Given the description of an element on the screen output the (x, y) to click on. 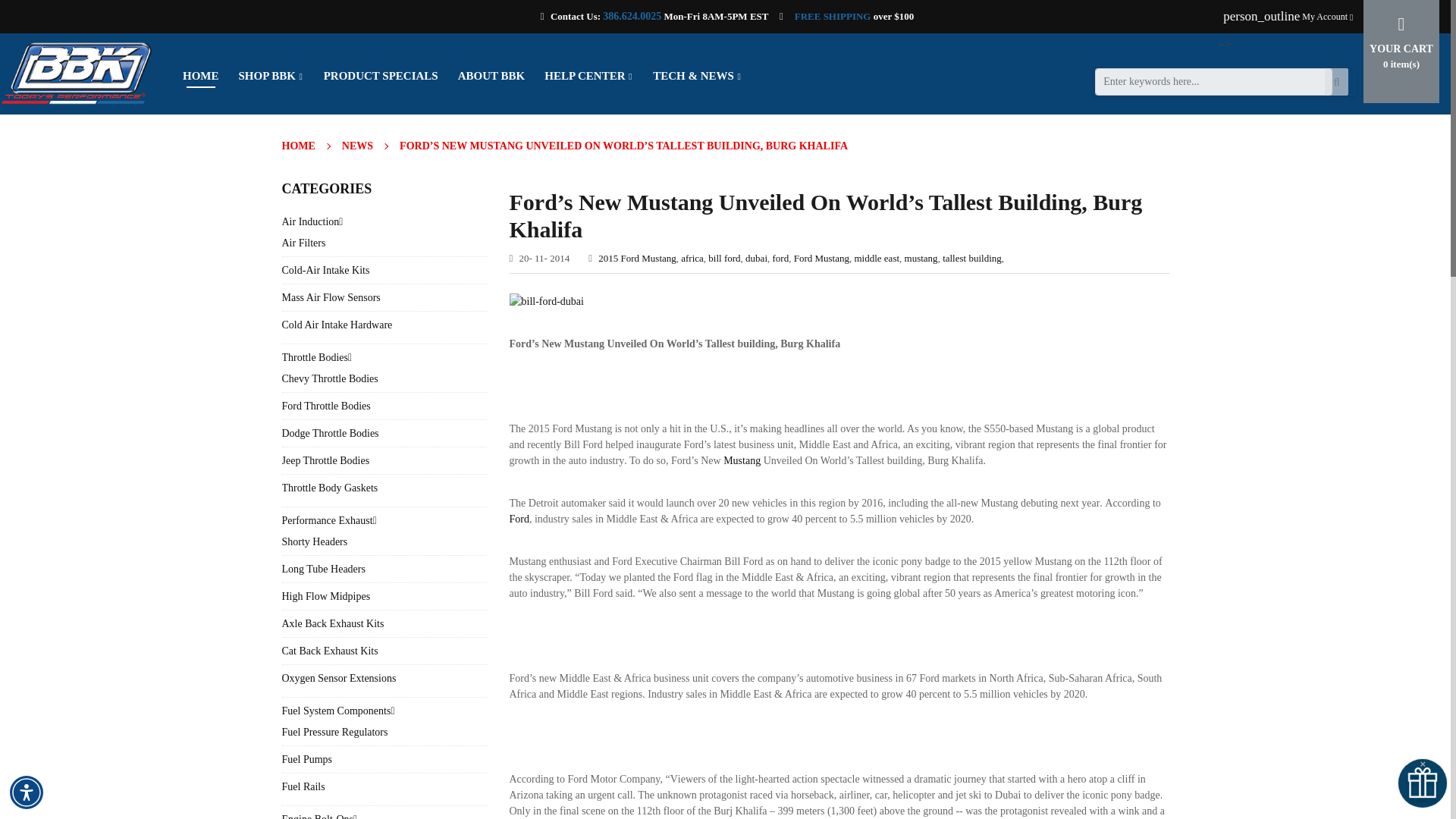
HOME (200, 75)
386.624.0025 (631, 16)
SHOP BBK (270, 75)
Accessibility Menu (26, 792)
